Given the description of an element on the screen output the (x, y) to click on. 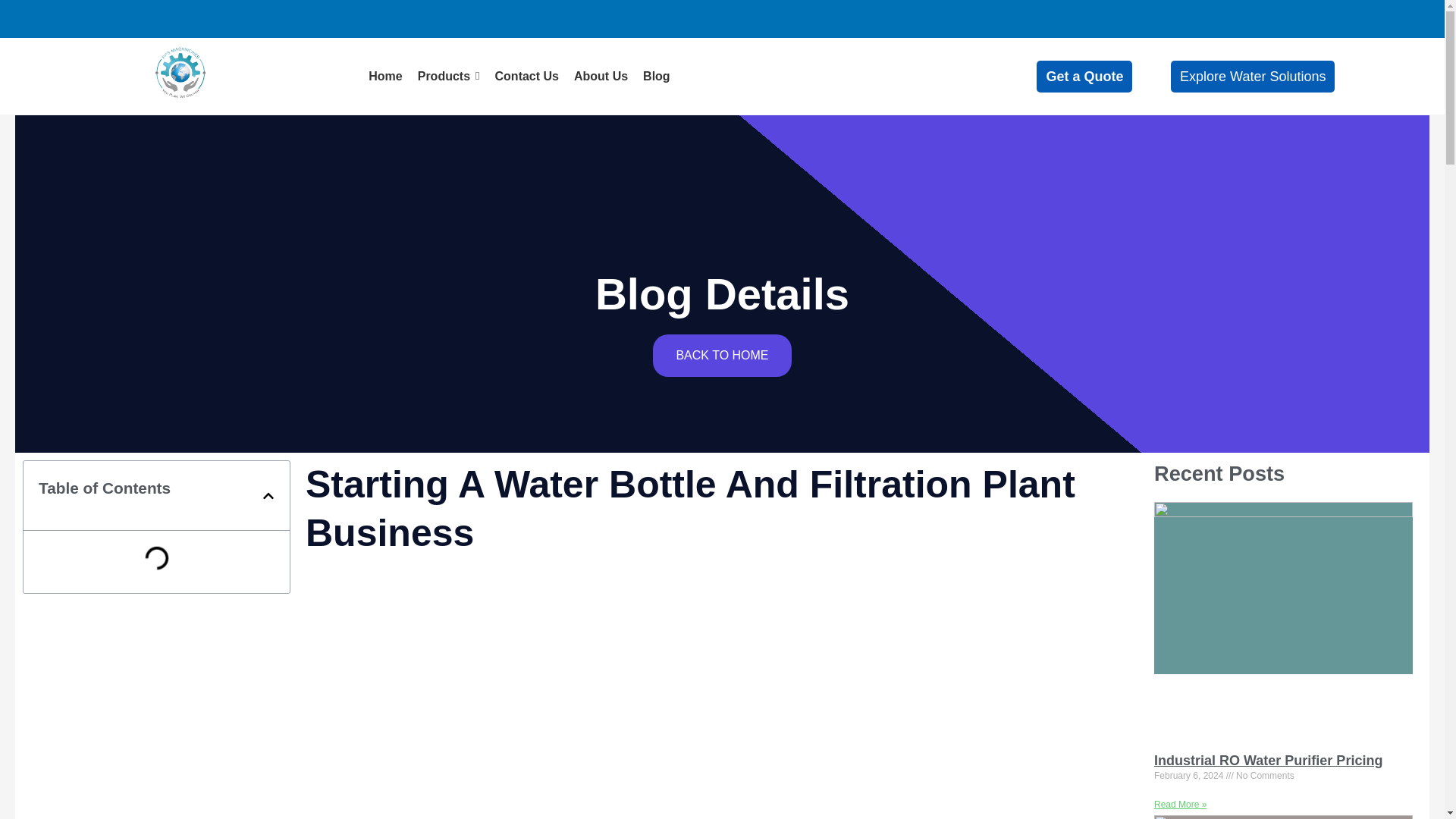
About Us (600, 76)
Home (384, 76)
View all posts by ppswaterengineers (194, 208)
Contact Us (527, 76)
Products (448, 76)
